Given the description of an element on the screen output the (x, y) to click on. 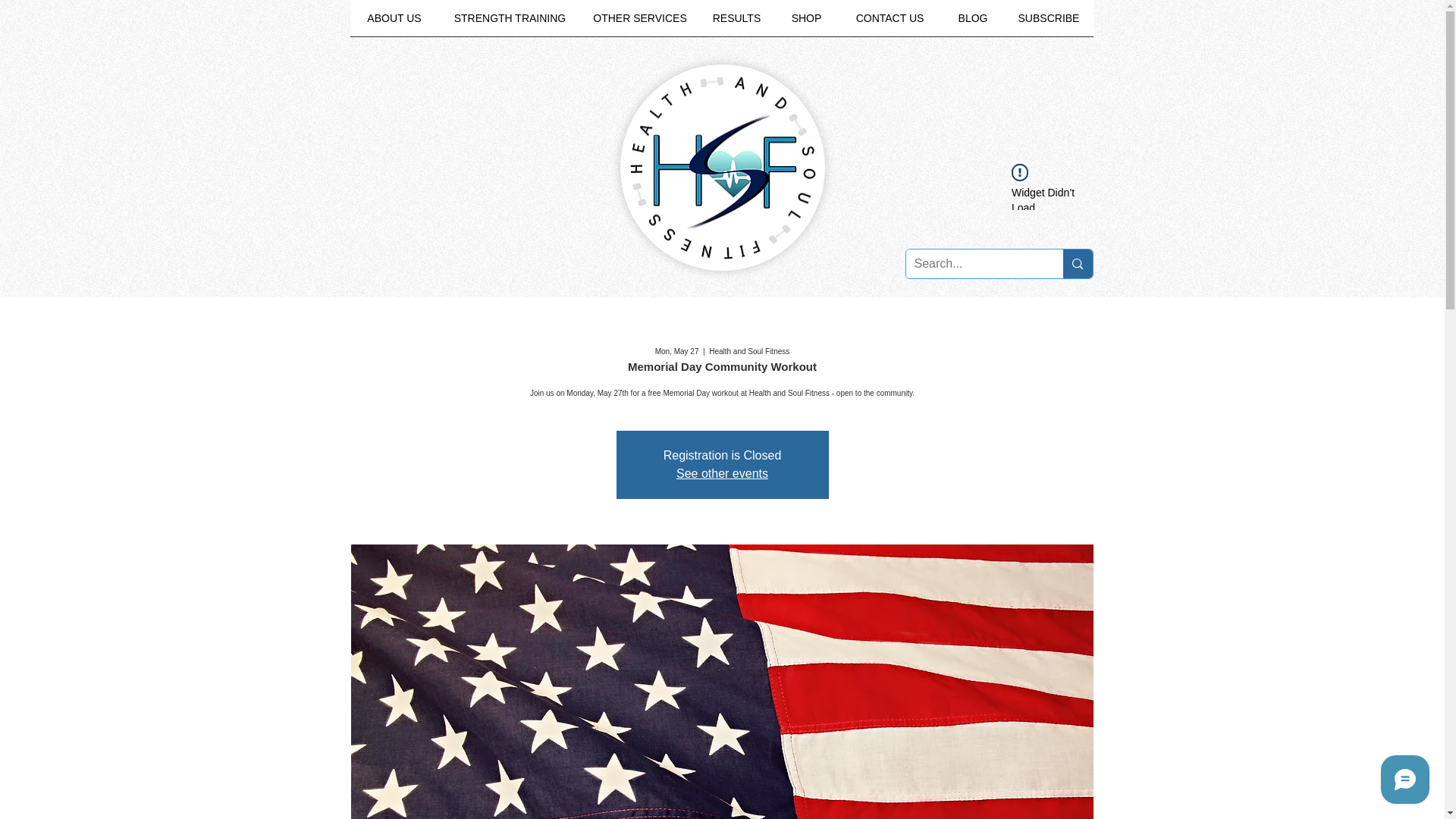
STRENGTH TRAINING (509, 22)
CONTACT US (890, 22)
SUBSCRIBE (1048, 22)
ABOUT US (394, 22)
RESULTS (736, 22)
SHOP (806, 22)
See other events (722, 472)
BLOG (973, 22)
